Given the description of an element on the screen output the (x, y) to click on. 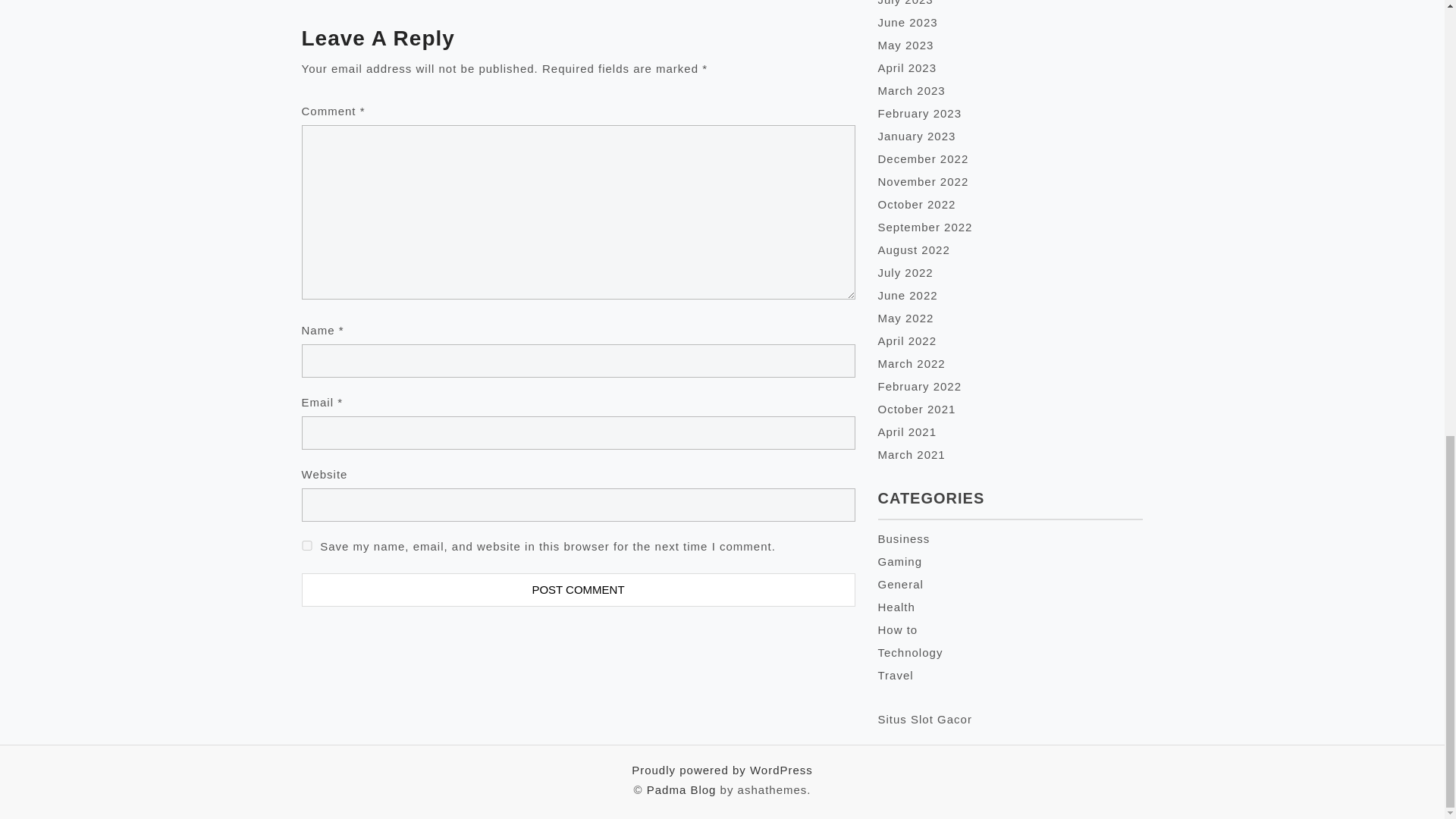
Post Comment (578, 589)
Post Comment (578, 589)
yes (307, 545)
